Given the description of an element on the screen output the (x, y) to click on. 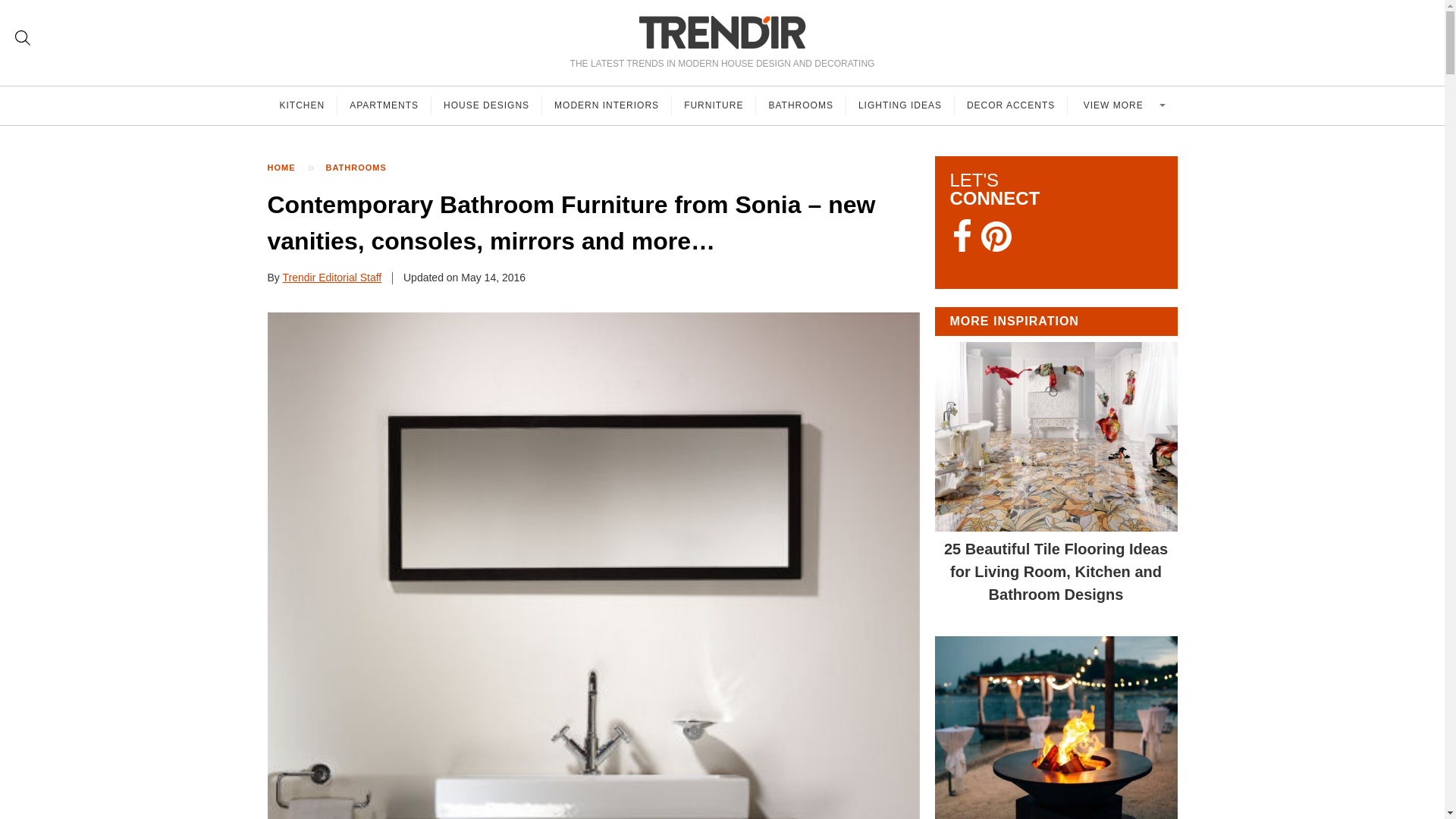
BATHROOMS (363, 167)
HOUSE DESIGNS (485, 105)
Home (288, 167)
Bathrooms (363, 167)
FURNITURE (713, 105)
BATHROOMS (800, 105)
TRENDIR (722, 32)
DECOR ACCENTS (1011, 105)
APARTMENTS (383, 105)
HOME (288, 167)
Trendir Home (722, 32)
Trendir Facebook (961, 236)
LIGHTING IDEAS (900, 105)
Trendir Pinterest (995, 237)
VIEW MORE (1122, 105)
